Given the description of an element on the screen output the (x, y) to click on. 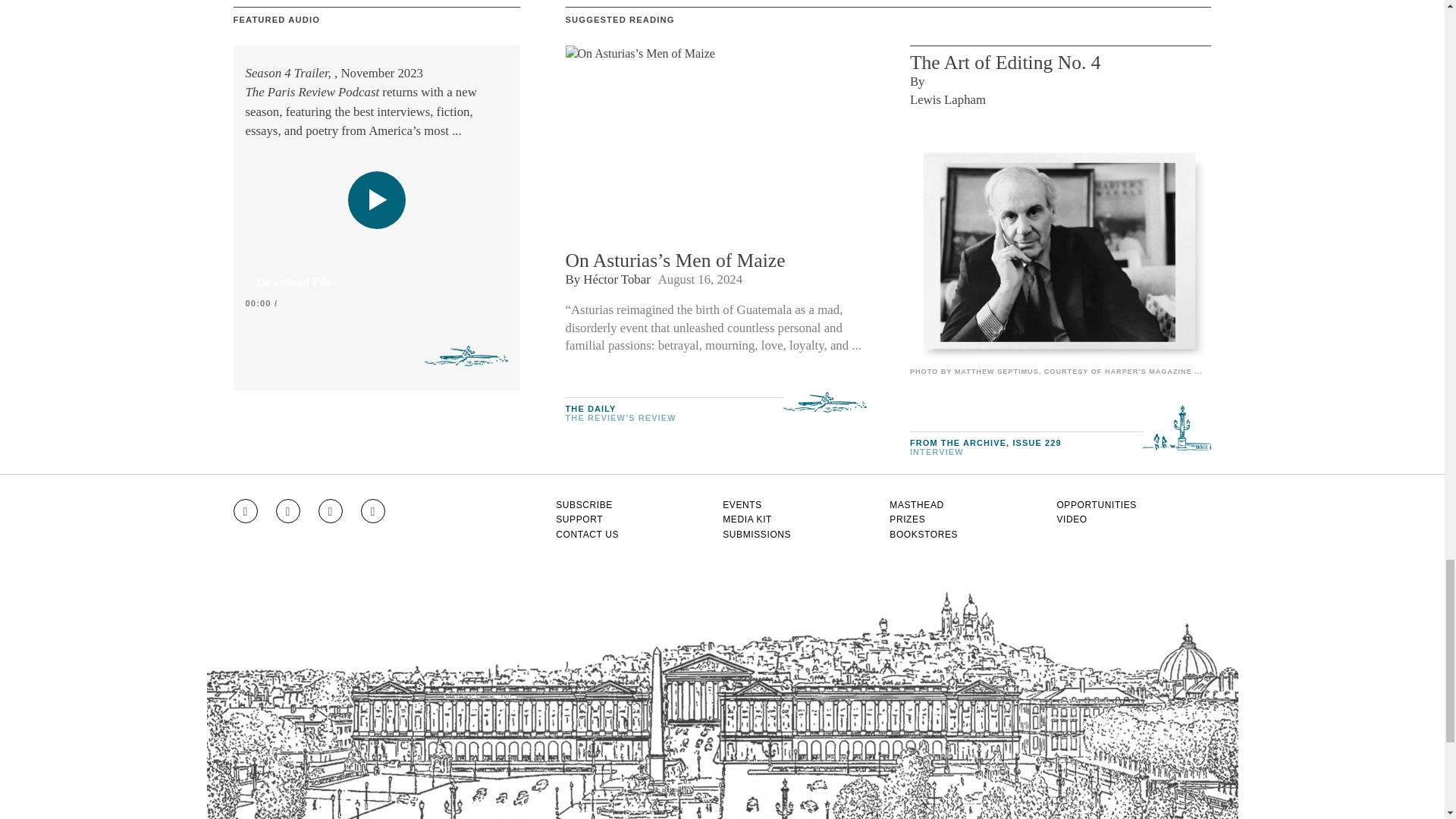
Go to Facebook page (287, 510)
Go to Instagram feed (244, 510)
Go to RSS feed (373, 510)
Go to Twitter feed (330, 510)
undefined (1060, 250)
